Given the description of an element on the screen output the (x, y) to click on. 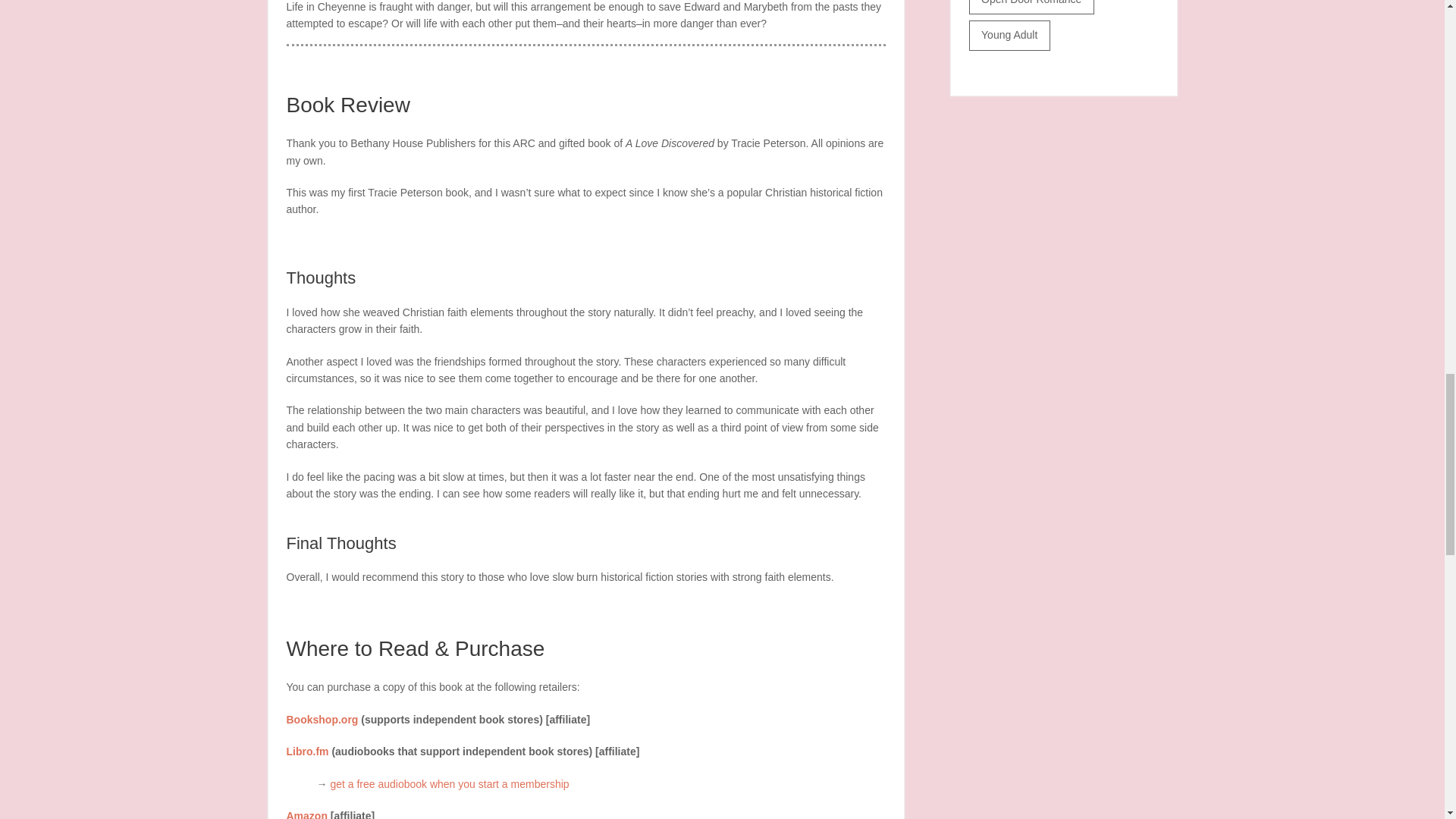
get a free audiobook when you start a membership (449, 784)
Amazon (306, 814)
Libro.fm (307, 751)
Bookshop.org (322, 719)
